Given the description of an element on the screen output the (x, y) to click on. 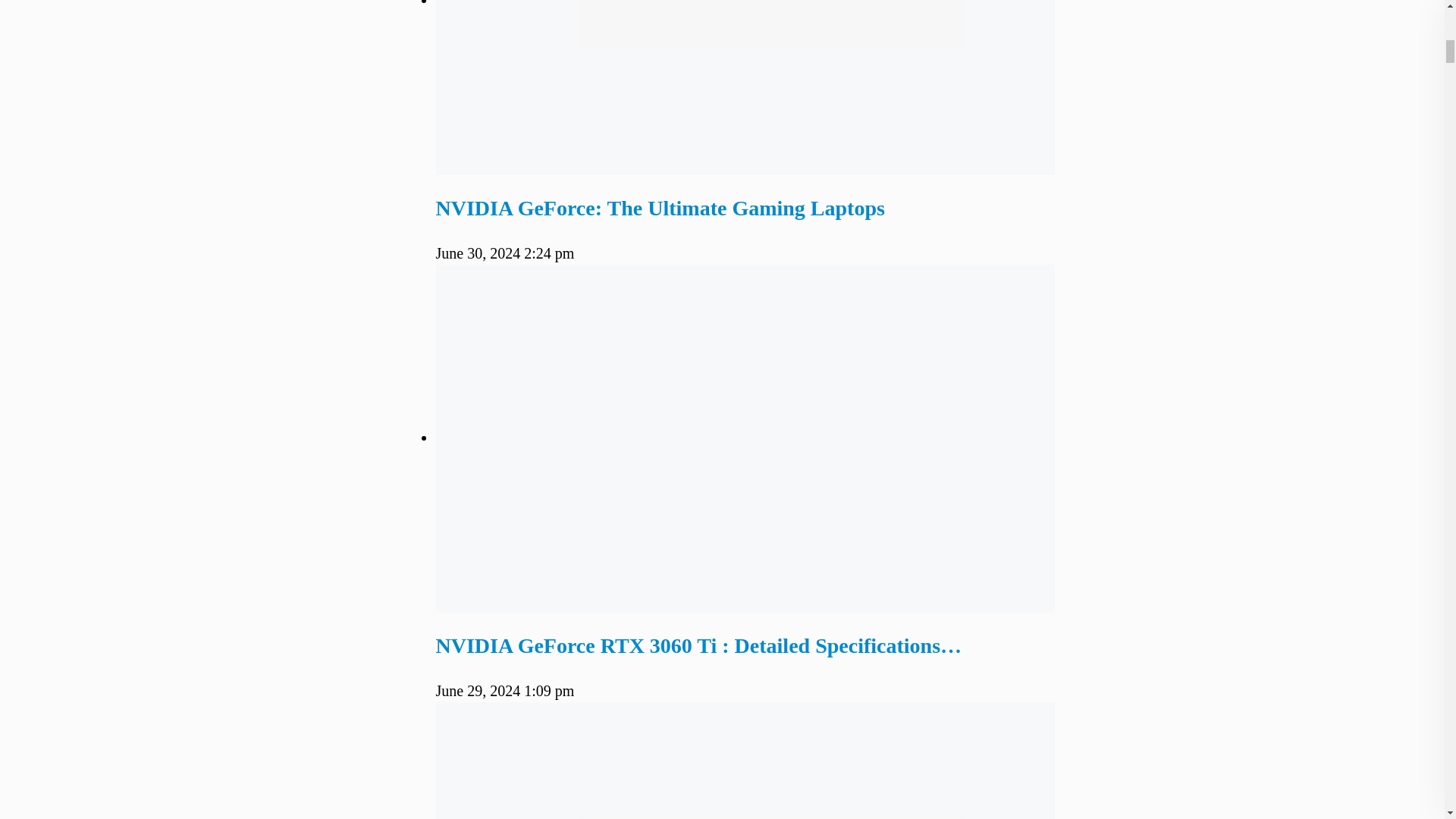
NVIDIA GeForce: The Ultimate Gaming Laptops (744, 87)
NVIDIA GeForce: The Ultimate Gaming Laptops (659, 208)
NVIDIA GeForce: The Ultimate Gaming Laptops (659, 208)
Intel Unison: The Future of Seamless Connectivity (744, 760)
